Given the description of an element on the screen output the (x, y) to click on. 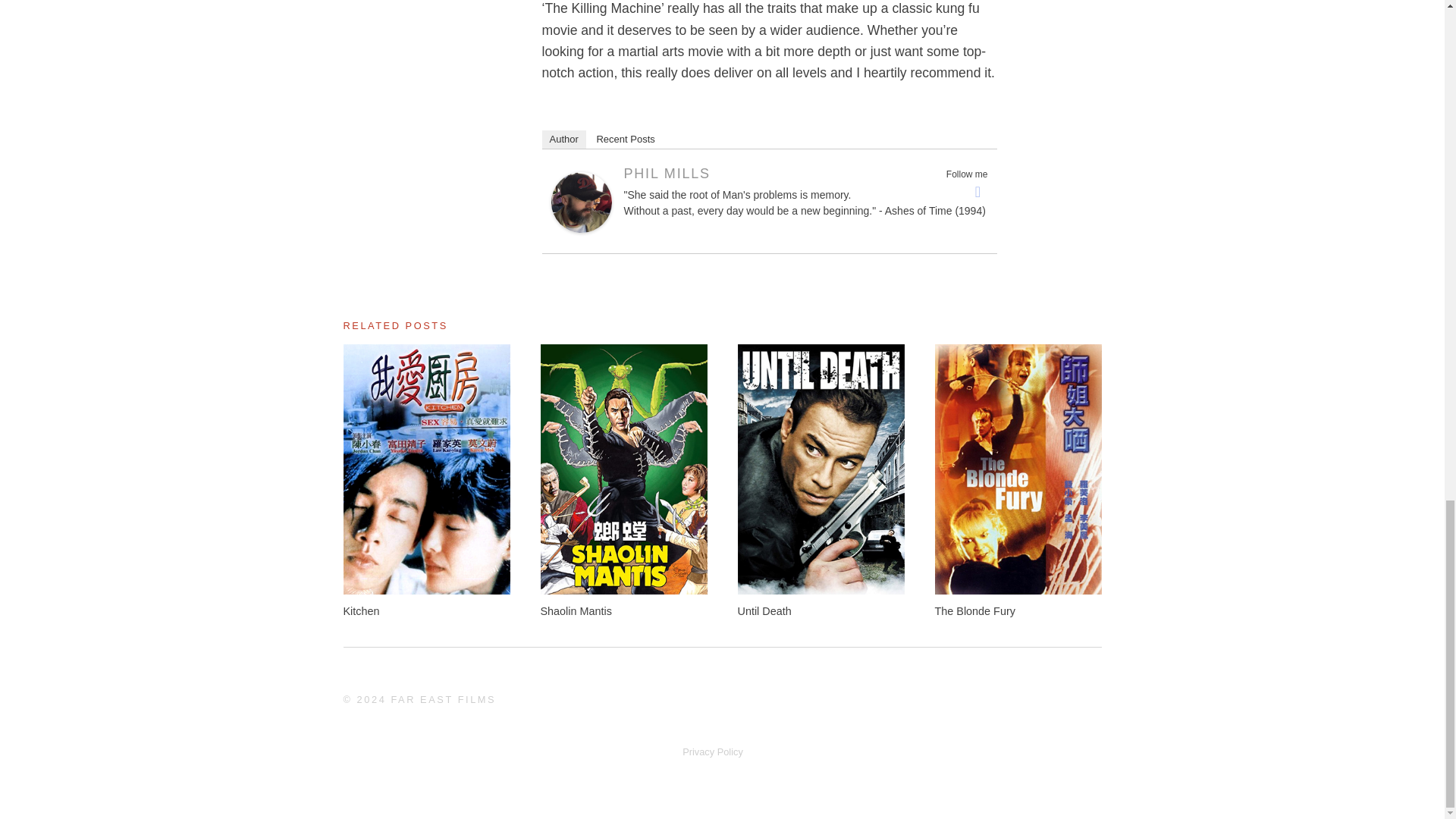
Phil Mills (580, 228)
Twitter (978, 191)
Privacy policy (712, 751)
